Given the description of an element on the screen output the (x, y) to click on. 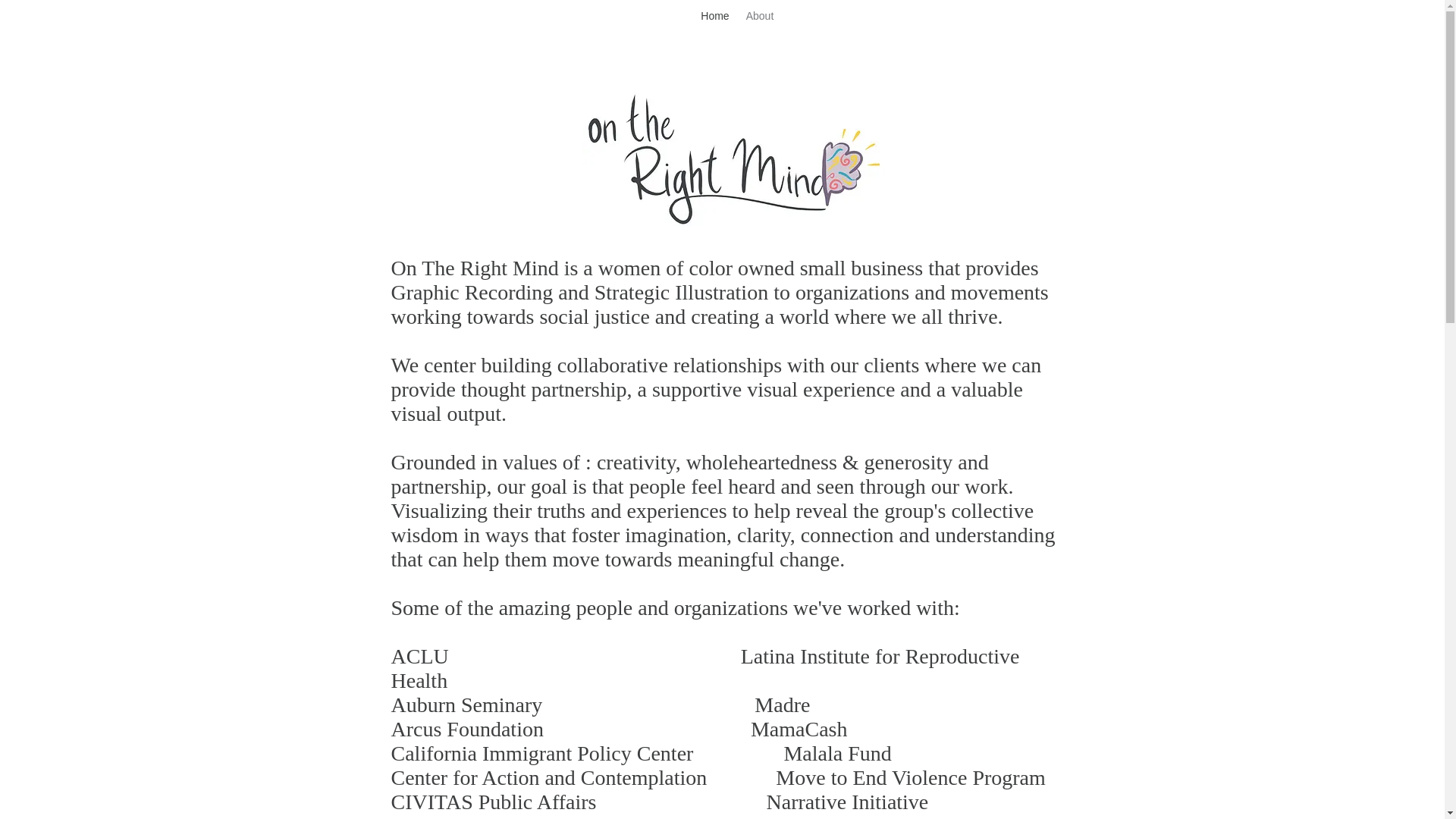
Home (715, 15)
About (758, 15)
